Given the description of an element on the screen output the (x, y) to click on. 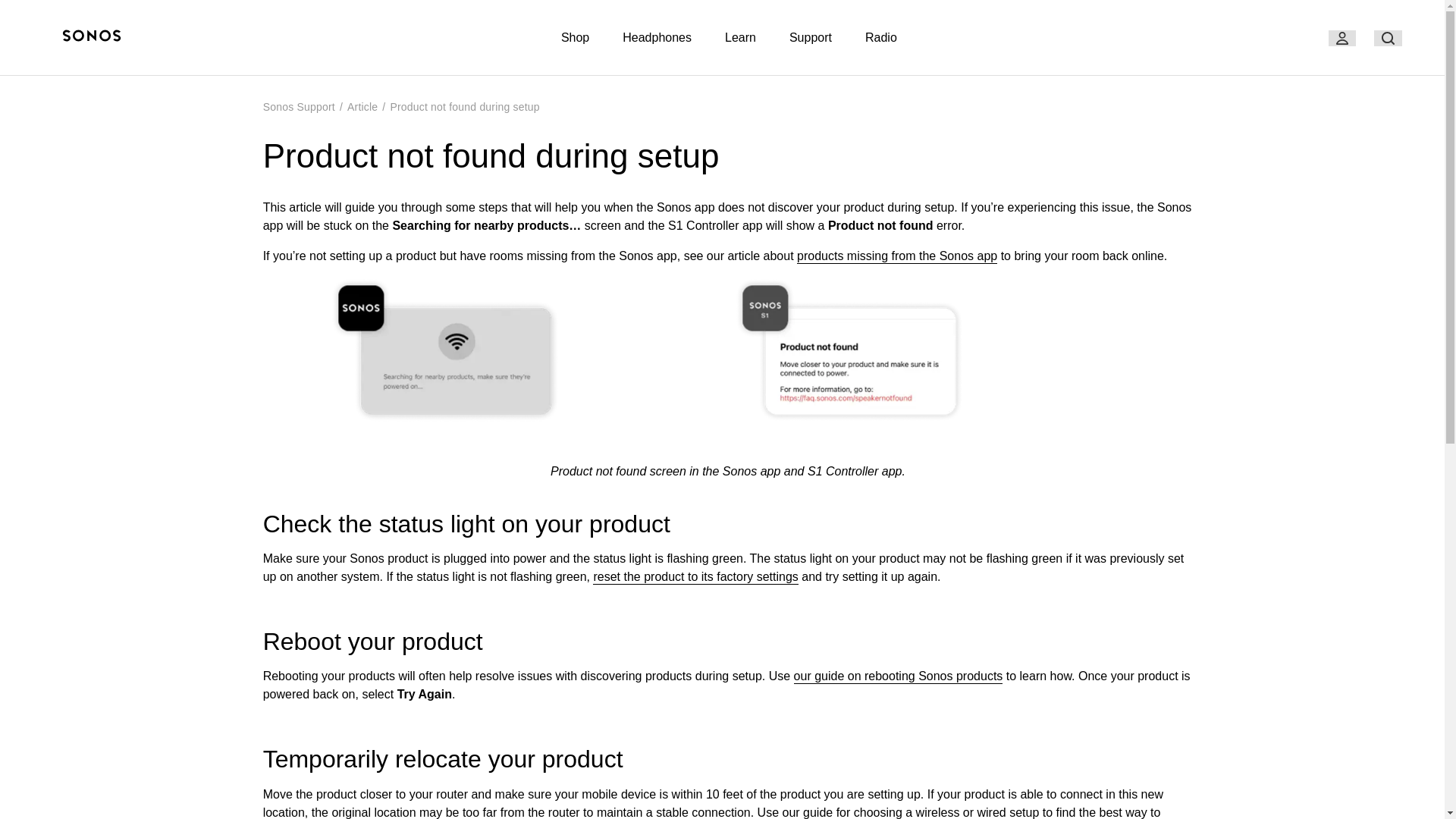
Headphones (657, 37)
reset the product to its factory settings (694, 577)
Learn (740, 37)
Support (809, 37)
My Account (1341, 37)
Search (1387, 38)
choosing a wireless or wired setup (946, 812)
Shop (575, 37)
Search (1388, 37)
our guide on rebooting Sonos products (898, 676)
My Account (1342, 38)
products missing from the Sonos app (896, 256)
Sonos Support (298, 106)
Radio (880, 37)
Product not found during setup (464, 106)
